Given the description of an element on the screen output the (x, y) to click on. 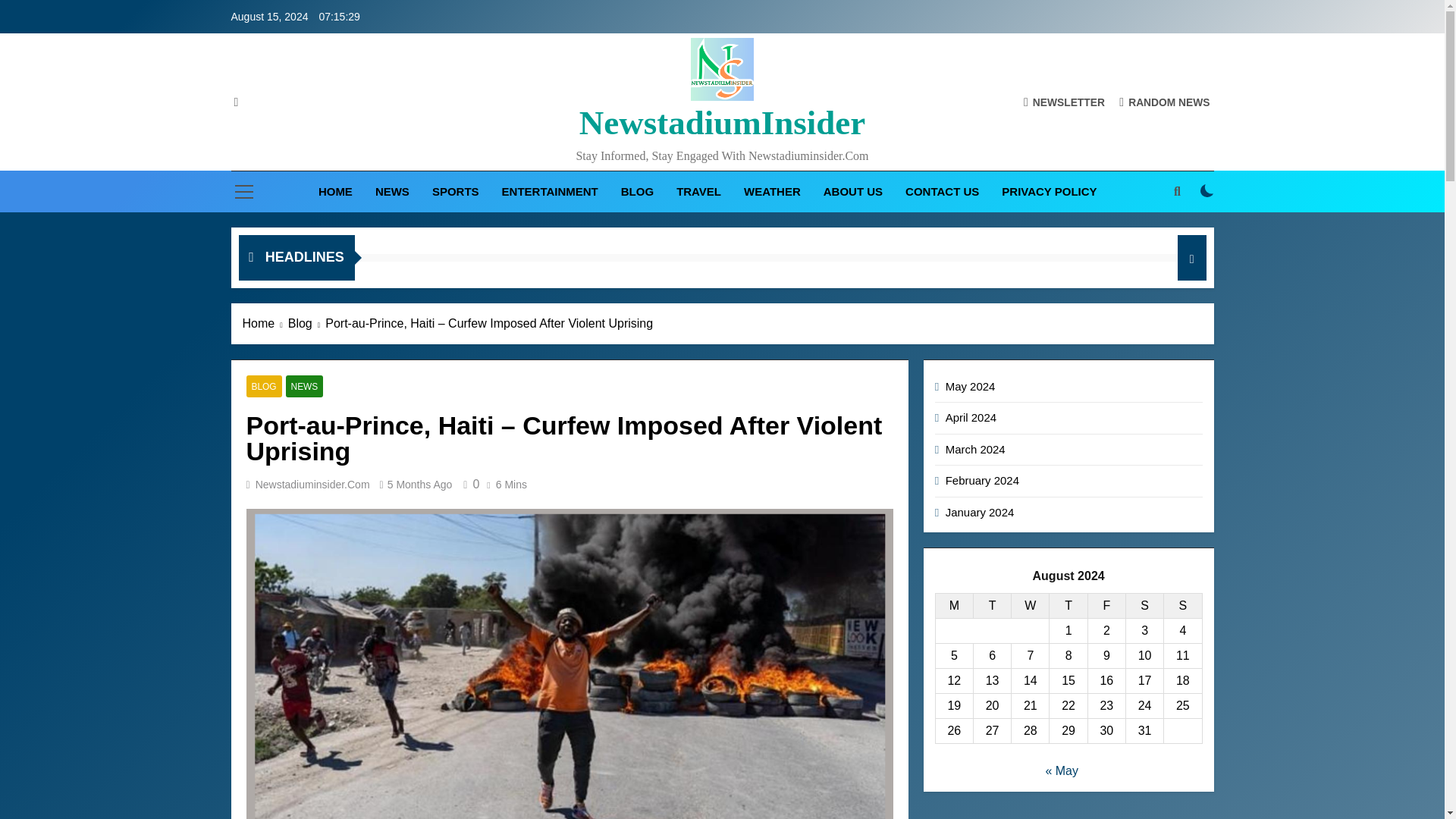
PRIVACY POLICY (1049, 191)
Wednesday (1030, 606)
NewstadiumInsider (722, 122)
BLOG (263, 386)
NEWS (392, 191)
TRAVEL (698, 191)
WEATHER (772, 191)
Monday (953, 606)
0 (468, 483)
RANDOM NEWS (1164, 101)
